Given the description of an element on the screen output the (x, y) to click on. 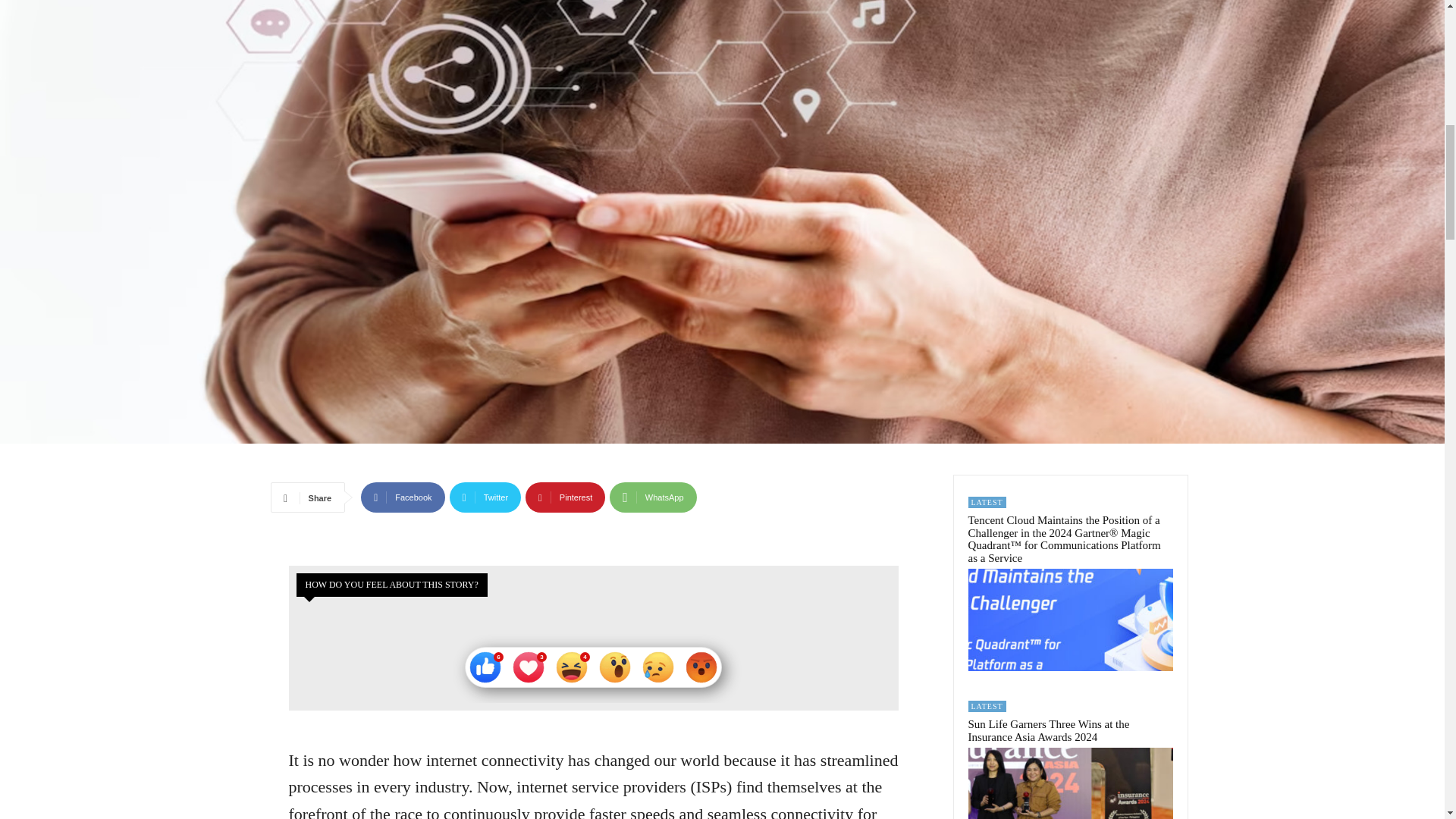
WhatsApp (652, 497)
Twitter (485, 497)
Facebook (402, 497)
Pinterest (565, 497)
LATEST (987, 501)
WhatsApp (652, 497)
Twitter (485, 497)
LATEST (987, 706)
Pinterest (565, 497)
Facebook (402, 497)
